Given the description of an element on the screen output the (x, y) to click on. 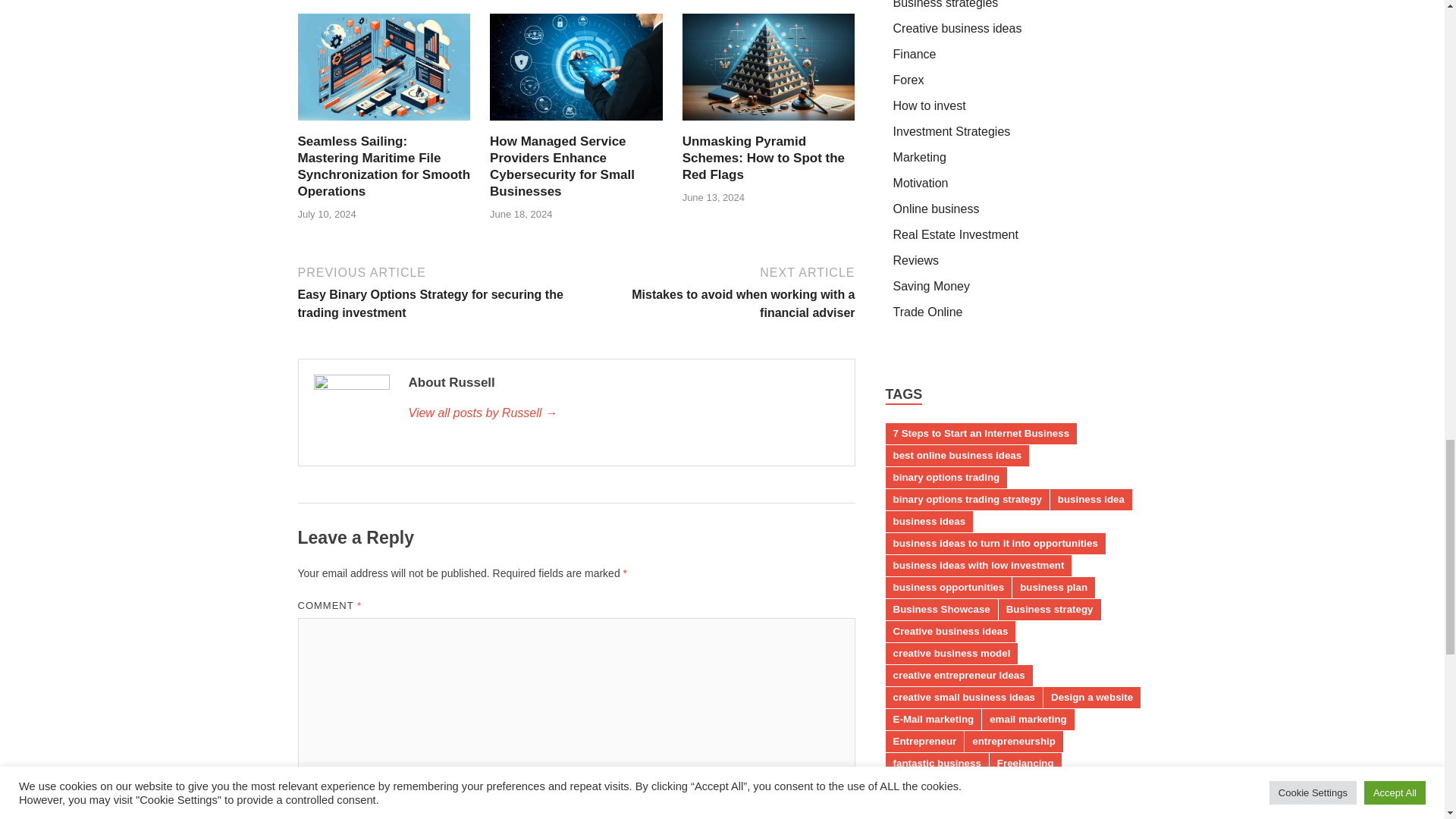
Unmasking Pyramid Schemes: How to Spot the Red Flags (763, 157)
Unmasking Pyramid Schemes: How to Spot the Red Flags (769, 72)
Russell (622, 413)
